Given the description of an element on the screen output the (x, y) to click on. 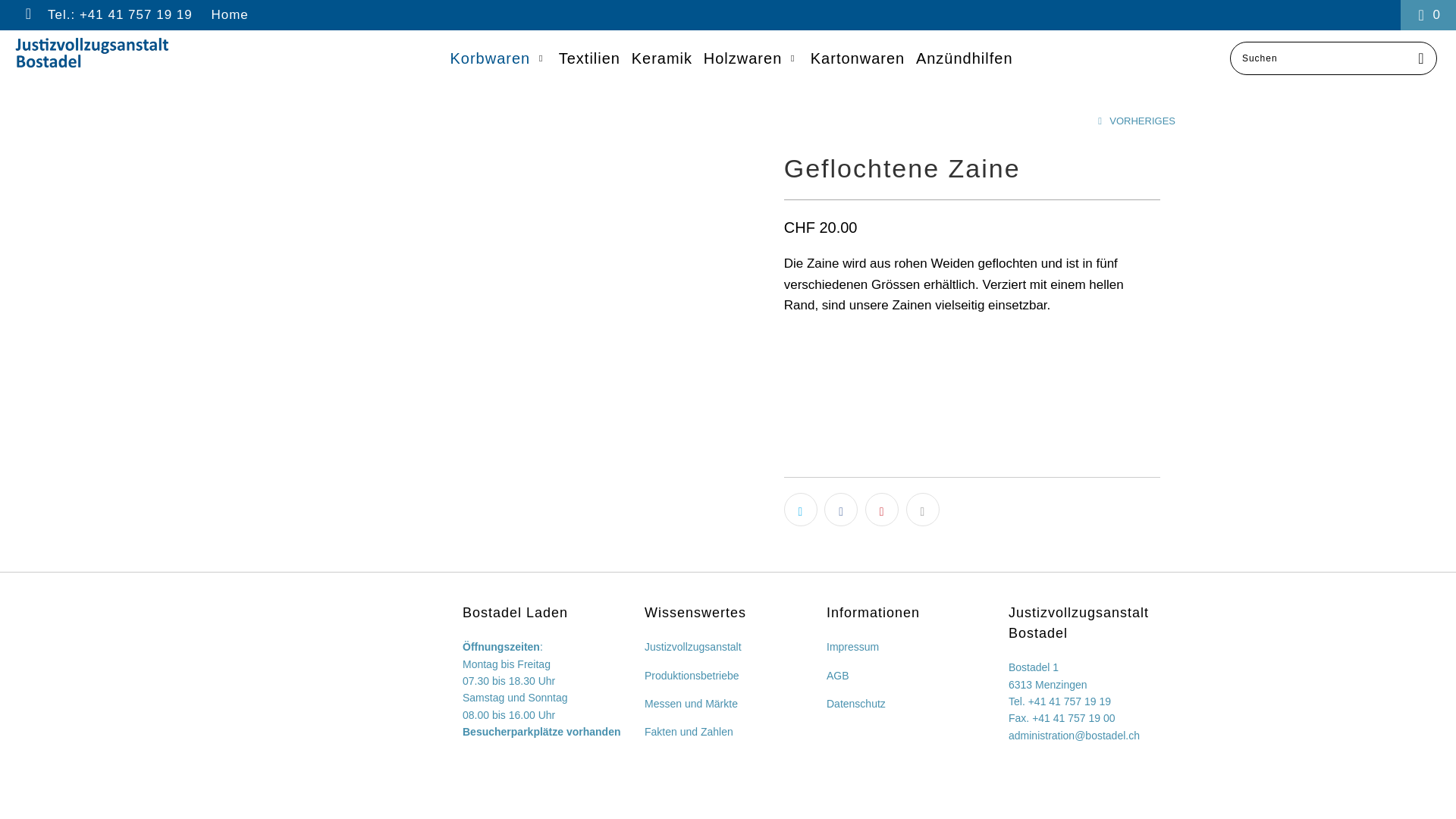
Home Element type: text (228, 15)
Kartonwaren Element type: text (857, 58)
Justizvollzugsanstalt Element type: text (692, 646)
Korbwaren Element type: text (498, 58)
Produktionsbetriebe Element type: text (691, 675)
+41 41 757 19 19 Element type: text (1069, 701)
Webshop Bostadel Element type: hover (123, 53)
+41 41 757 19 00 Element type: text (1073, 718)
Impressum Element type: text (852, 646)
Tel.: +41 41 757 19 19 Element type: text (119, 15)
Email Webshop Bostadel Element type: hover (27, 14)
Datenschutz Element type: text (855, 703)
VORHERIGES Element type: text (1134, 120)
Auf Pinterest teilen Element type: hover (881, 509)
AGB Element type: text (837, 675)
Fakten und Zahlen Element type: text (688, 731)
Auf Facebook teilen Element type: hover (840, 509)
Keramik Element type: text (661, 58)
Textilien Element type: text (589, 58)
administration@bostadel.ch Element type: text (1073, 735)
An einen Freund mailen Element type: hover (922, 509)
Holzwaren Element type: text (751, 58)
Auf Twitter teilen Element type: hover (800, 509)
